Given the description of an element on the screen output the (x, y) to click on. 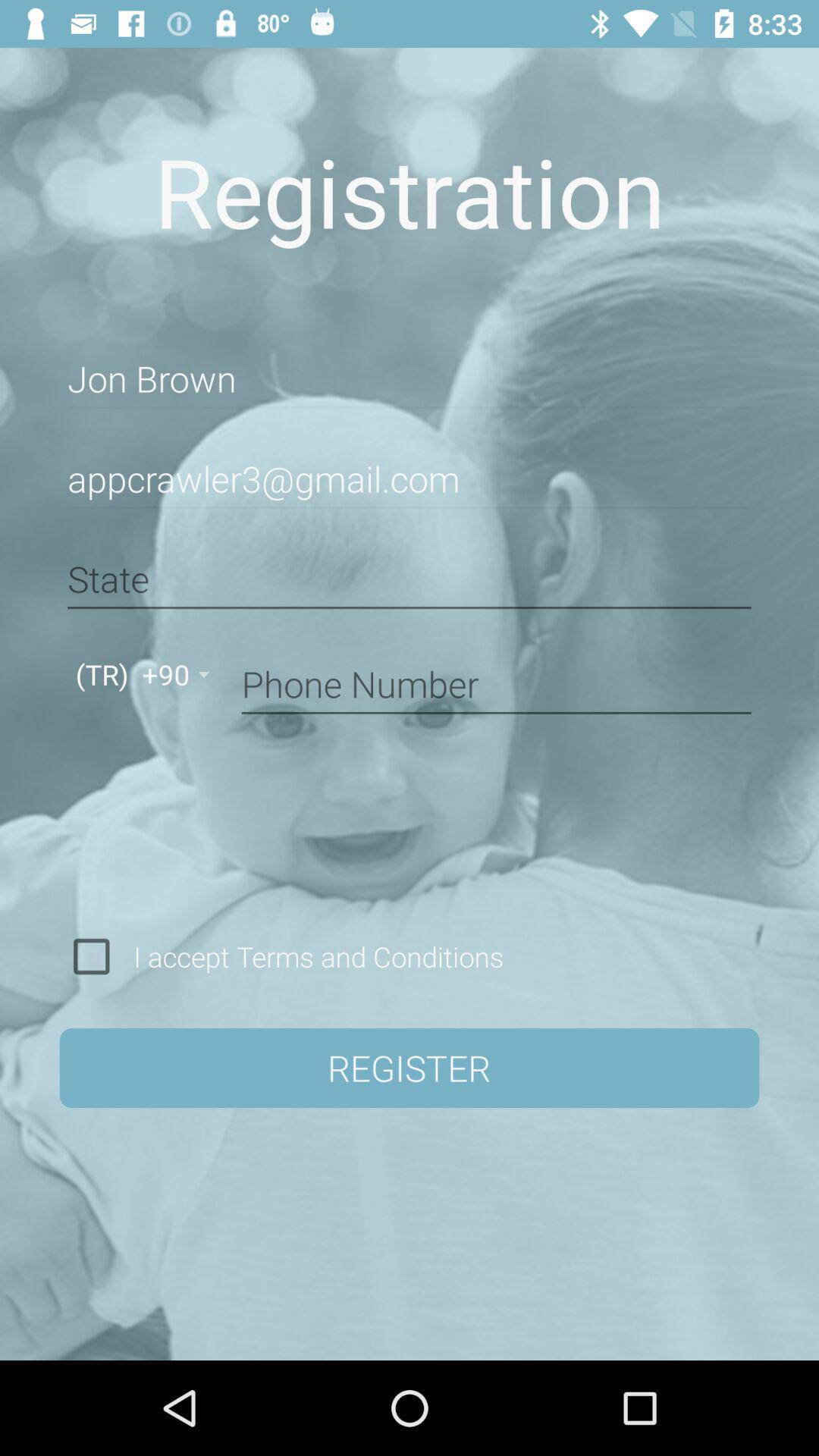
open icon next to the i accept terms item (91, 956)
